Given the description of an element on the screen output the (x, y) to click on. 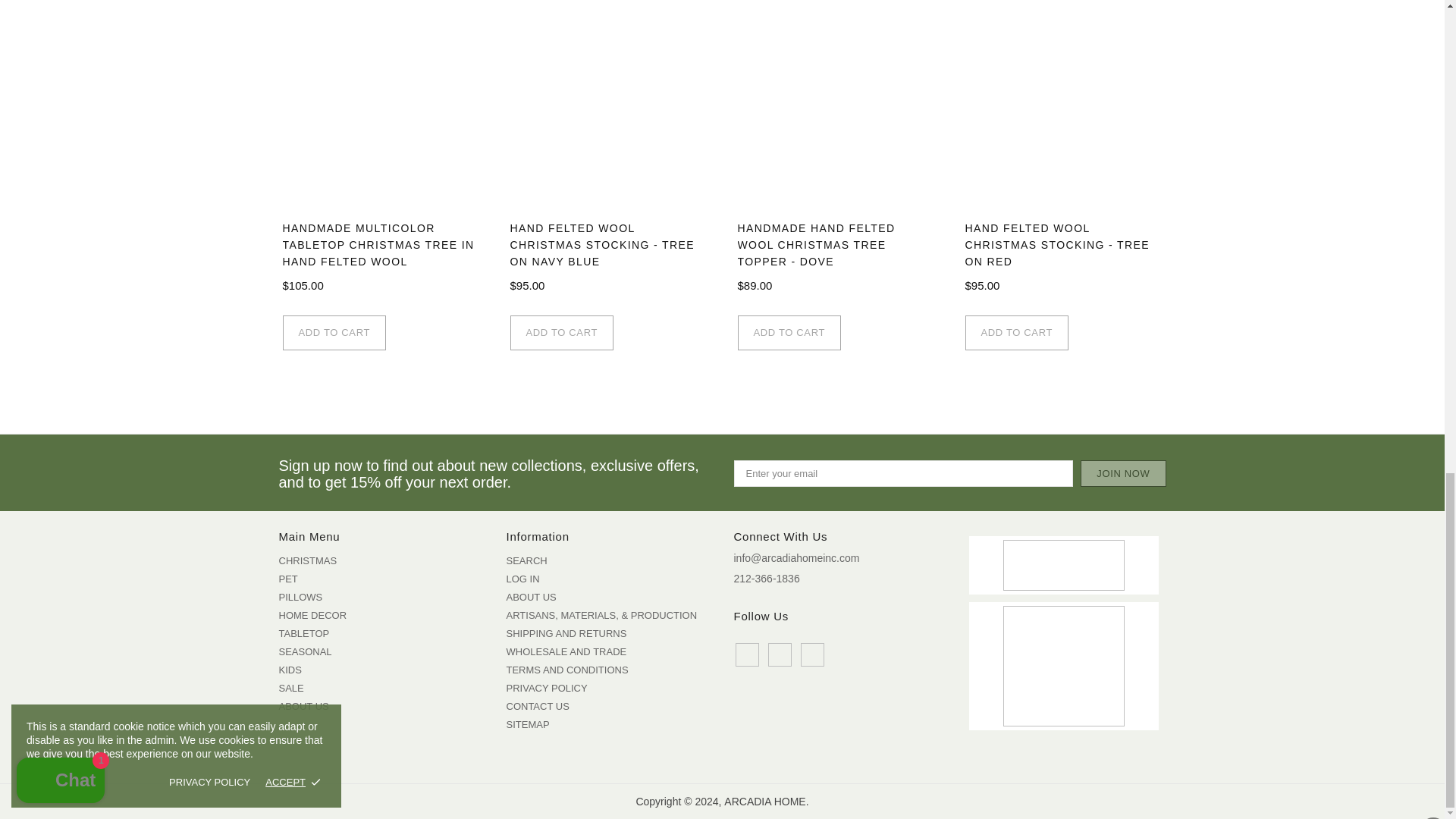
JOIN NOW (1123, 473)
